Given the description of an element on the screen output the (x, y) to click on. 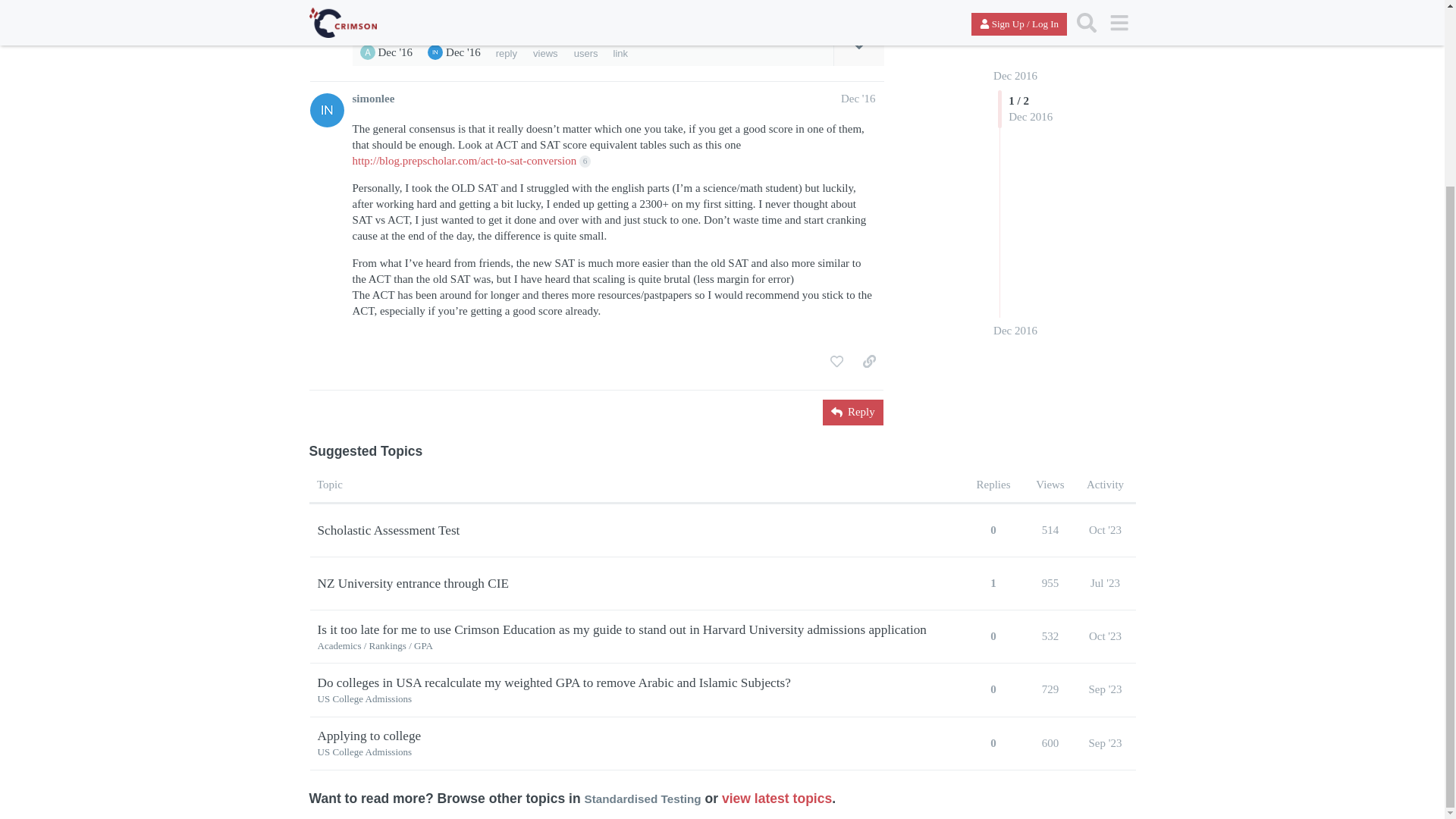
Dec 2016 (1014, 143)
NZ University entrance through CIE (412, 583)
simonlee (373, 98)
Oct '23 (1104, 636)
share a link to this post (869, 4)
anonymous23 (366, 52)
Dec 2016 (1014, 143)
Scholastic Assessment Test (388, 529)
Post date (858, 98)
Dec 22, 2016 6:21 am (462, 51)
Oct '23 (1104, 529)
richasianboy (435, 52)
Reply (852, 412)
expand topic details (857, 45)
Dec '16 (858, 98)
